Given the description of an element on the screen output the (x, y) to click on. 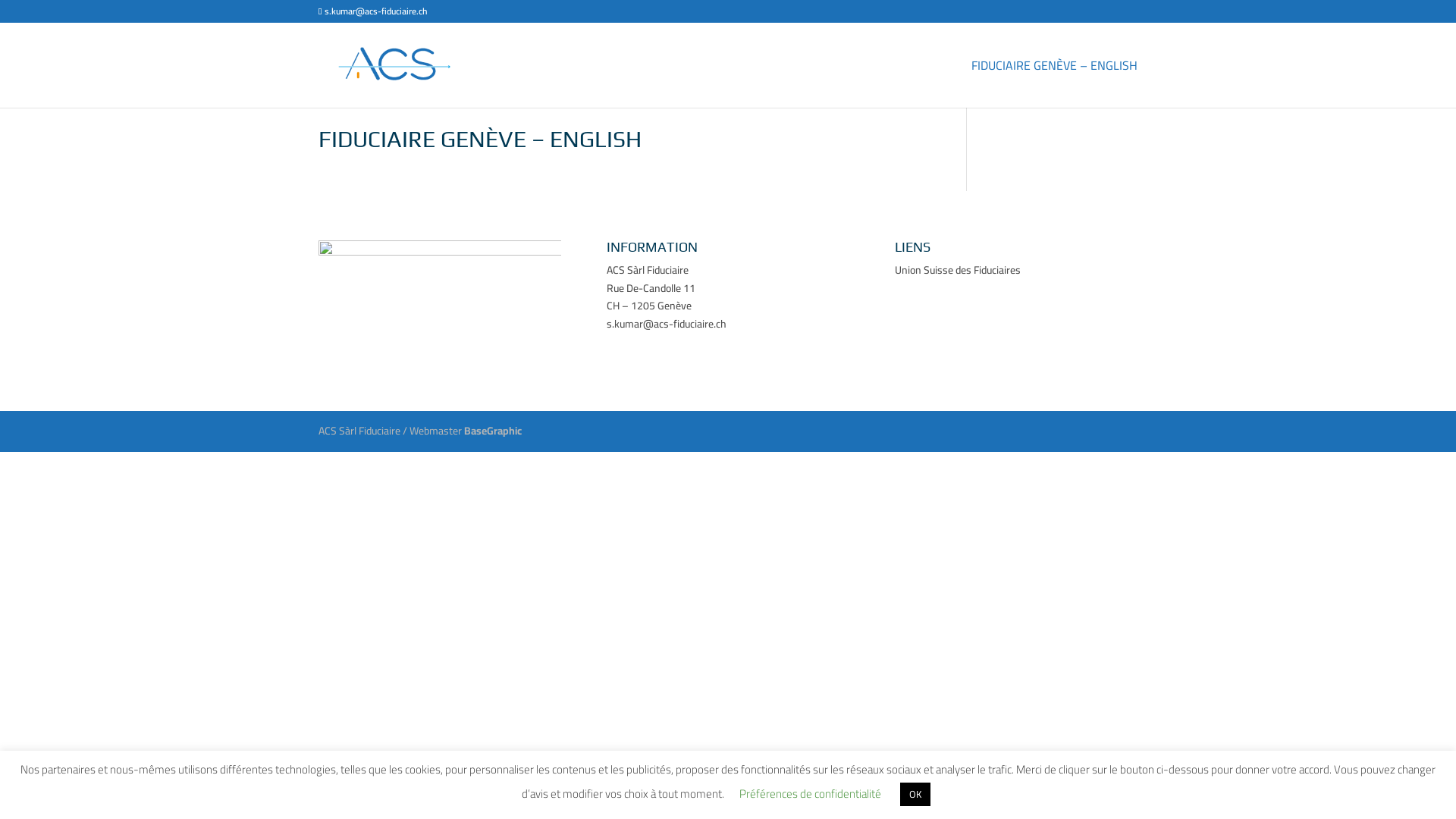
Union Suisse des Fiduciaires Element type: text (957, 269)
BaseGraphic Element type: text (492, 430)
OK Element type: text (915, 794)
s.kumar@acs-fiduciaire.ch Element type: text (372, 10)
